Given the description of an element on the screen output the (x, y) to click on. 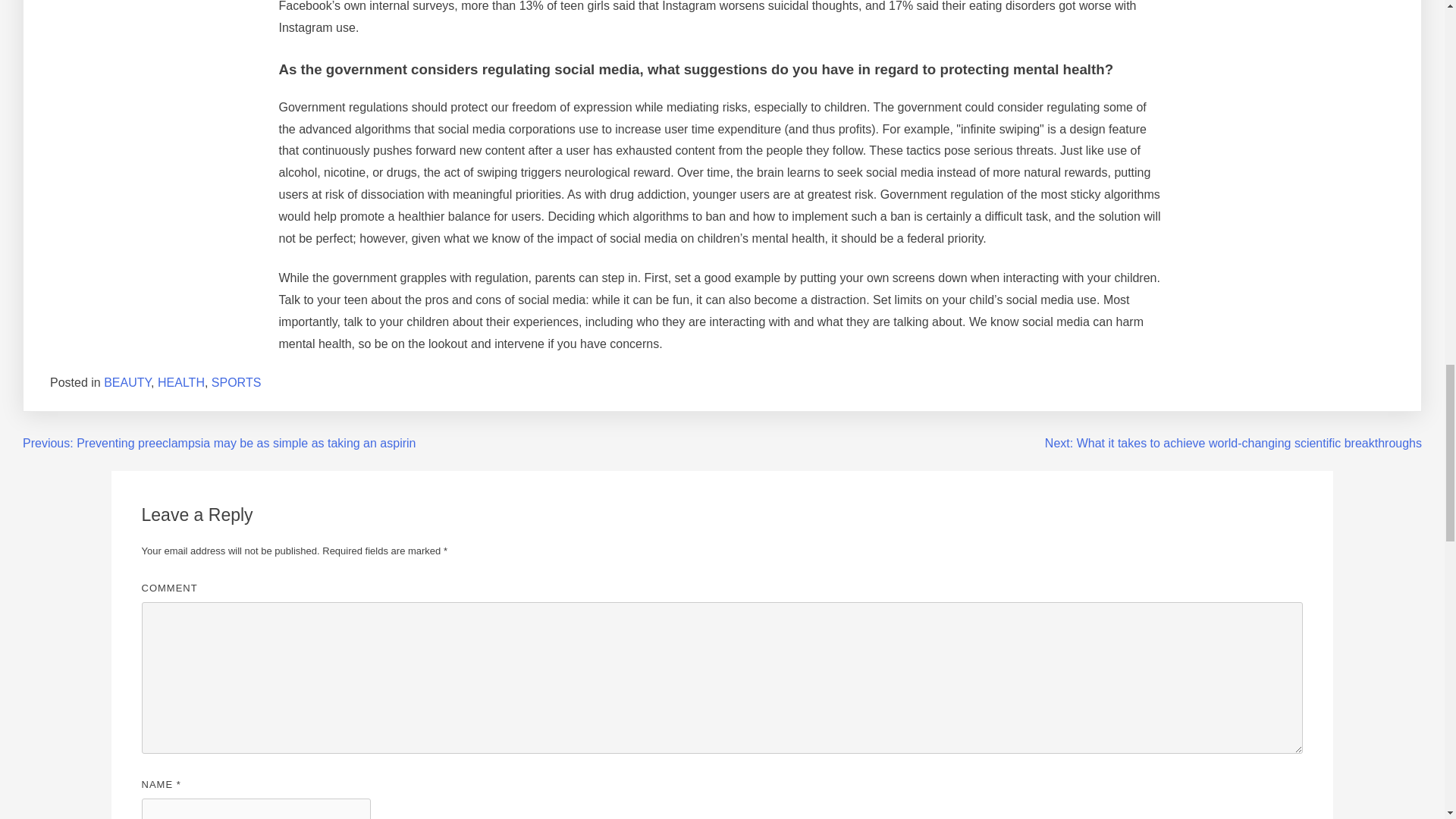
HEALTH (181, 382)
BEAUTY (127, 382)
SPORTS (236, 382)
